Given the description of an element on the screen output the (x, y) to click on. 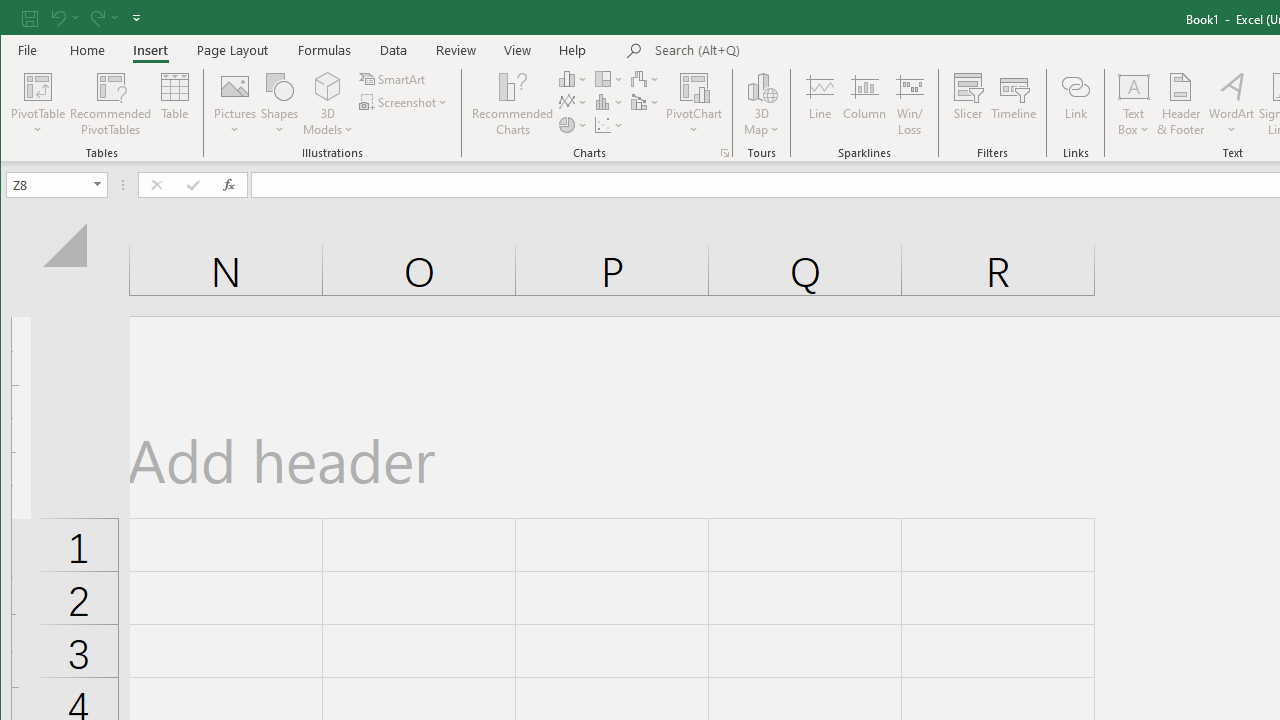
Link (1075, 104)
Pictures (235, 104)
PivotTable (37, 104)
Table (174, 104)
Insert Pie or Doughnut Chart (573, 124)
Timeline (1014, 104)
PivotTable (37, 86)
Draw Horizontal Text Box (1133, 86)
Column (864, 104)
